Given the description of an element on the screen output the (x, y) to click on. 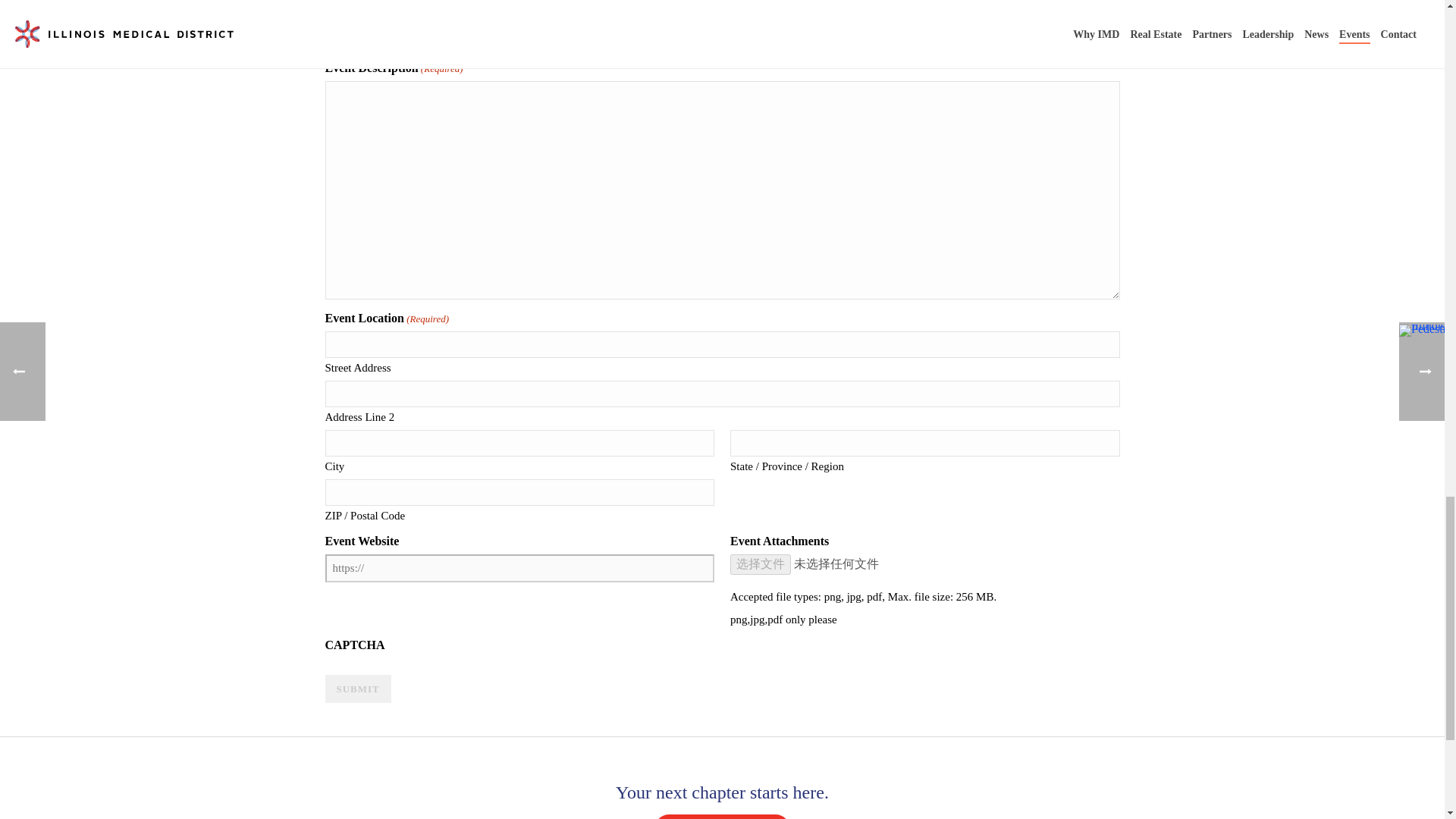
LOCATE IN THE IMD (721, 816)
Submit (357, 688)
Submit (357, 688)
